Given the description of an element on the screen output the (x, y) to click on. 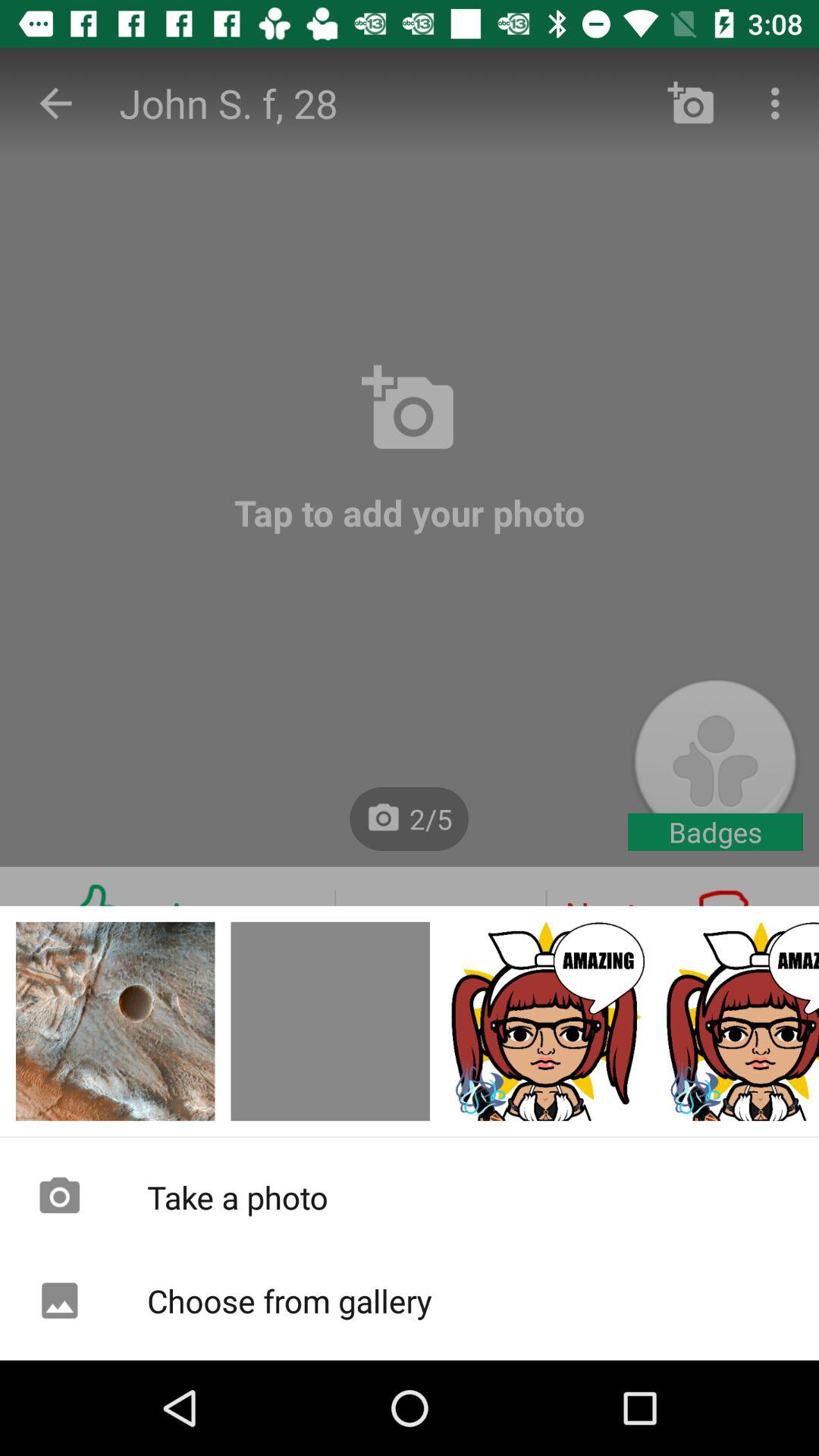
choose your photo (329, 1021)
